Given the description of an element on the screen output the (x, y) to click on. 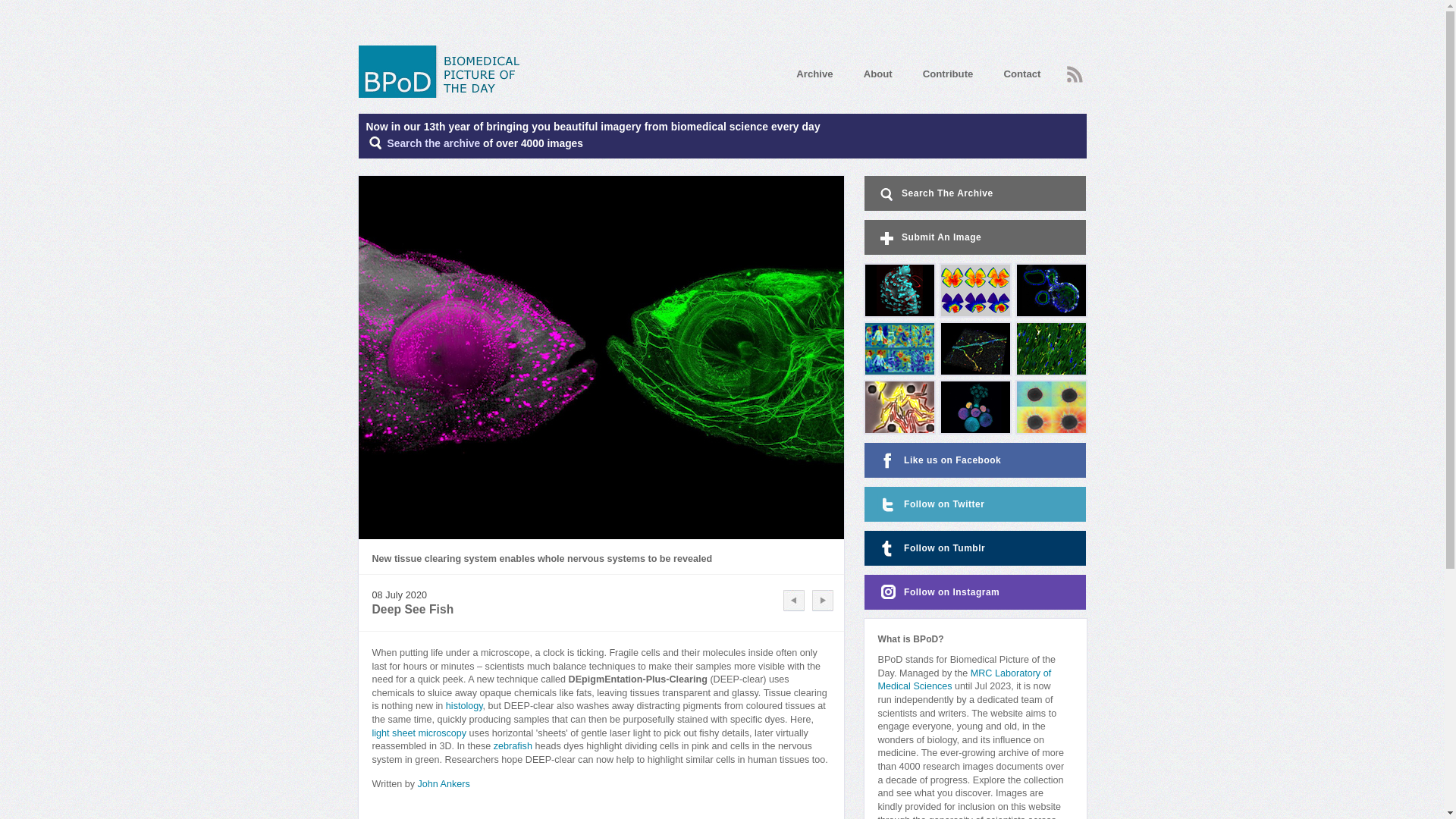
Follow on Instagram (975, 591)
Like us on Facebook (975, 460)
John Ankers (442, 783)
MRC Laboratory of Medical Sciences (964, 680)
RSS (1073, 74)
Contribute (948, 73)
Archive (814, 73)
Search The Archive (975, 193)
Follow on Twitter (975, 503)
light sheet microscopy (418, 733)
Home (443, 71)
Search the archive (433, 143)
Search The Archive (433, 143)
Search The Archive (975, 193)
About this author (442, 783)
